Given the description of an element on the screen output the (x, y) to click on. 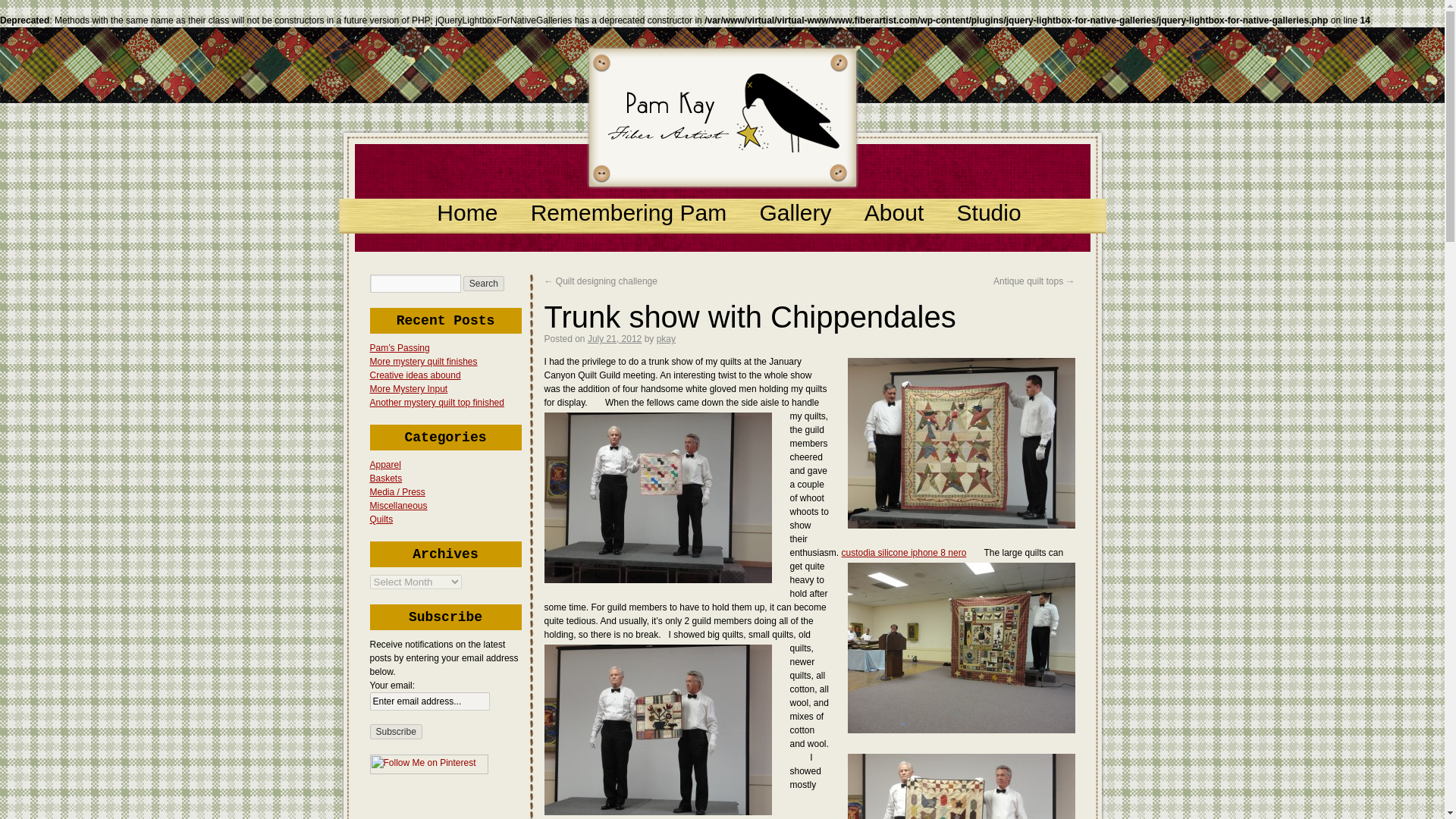
7:08 pm (615, 338)
pkay (665, 338)
Home (466, 212)
About (893, 212)
DSC01595 (657, 729)
More Mystery Input (408, 388)
Subscribe (395, 731)
Baskets (386, 478)
Search (483, 283)
Miscellaneous (398, 505)
Remembering Pam (628, 212)
Gallery (794, 212)
DSC01592 (961, 442)
DSC01594 (961, 647)
Apparel (385, 464)
